Given the description of an element on the screen output the (x, y) to click on. 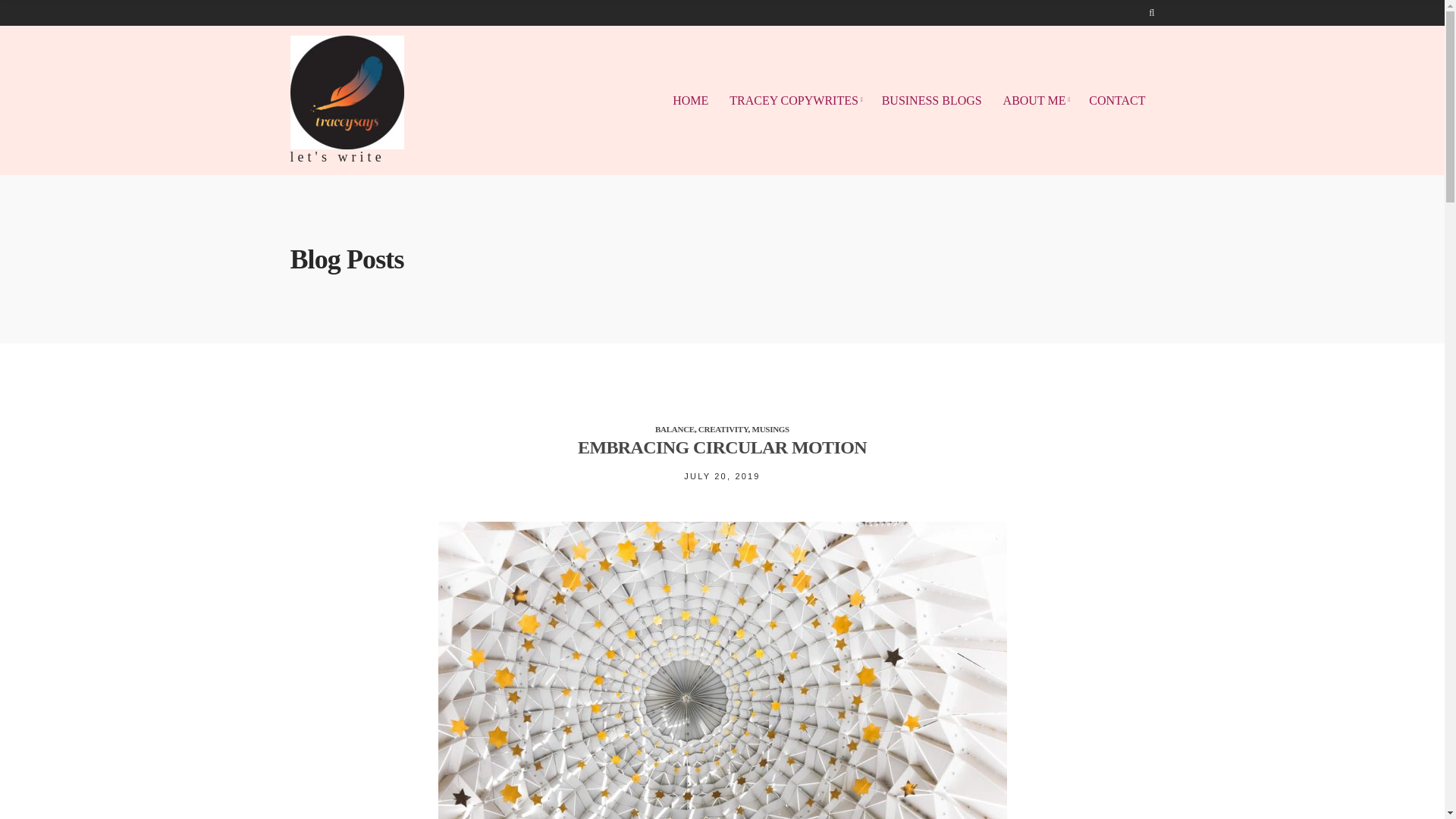
TRACEY COPYWRITES (794, 100)
BALANCE (674, 429)
let's write (336, 156)
CREATIVITY (723, 429)
BUSINESS BLOGS (931, 100)
HOME (689, 100)
CONTACT (1116, 100)
MUSINGS (770, 429)
ABOUT ME (1035, 100)
